Given the description of an element on the screen output the (x, y) to click on. 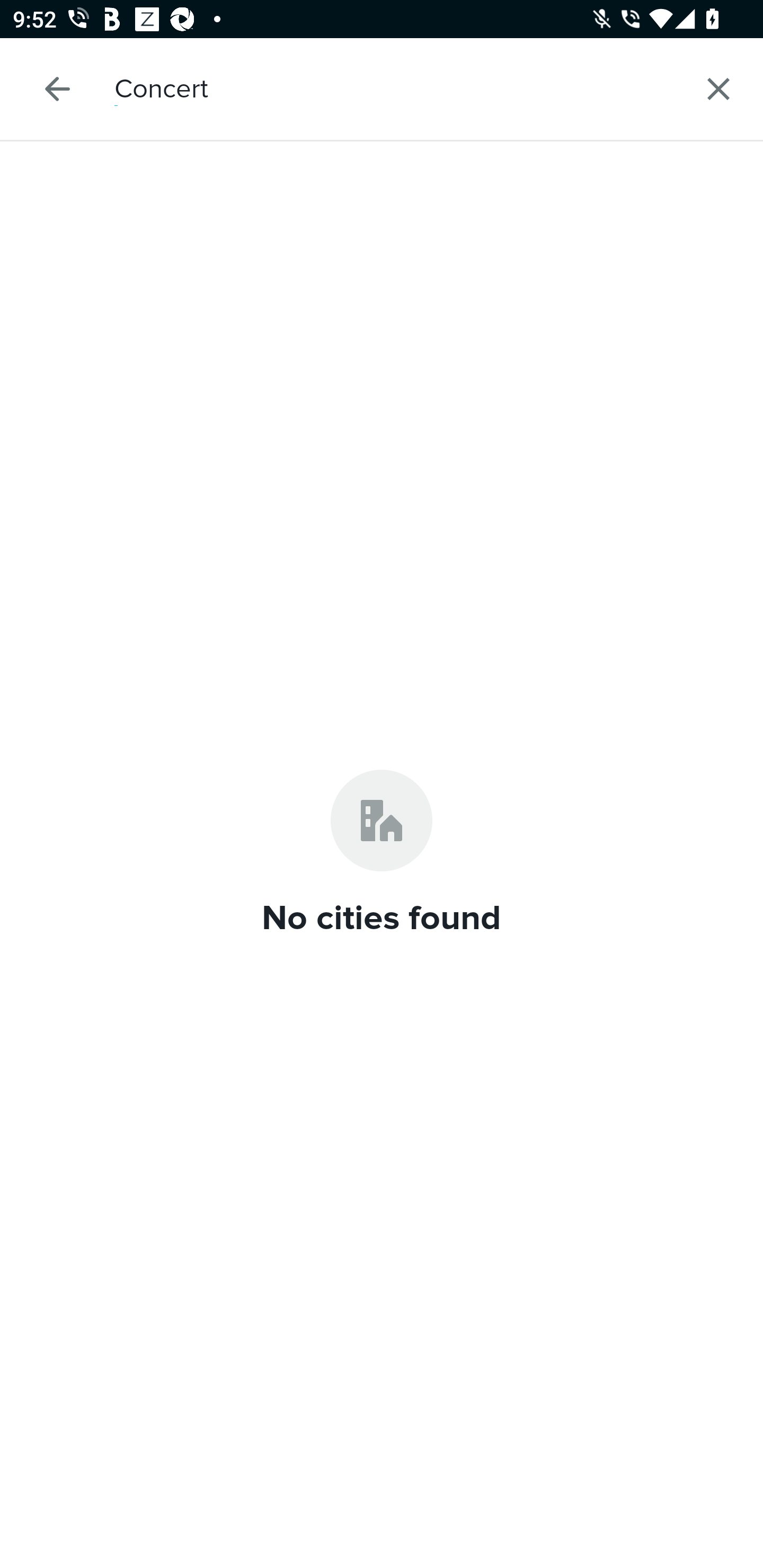
Concert
 (422, 88)
